Given the description of an element on the screen output the (x, y) to click on. 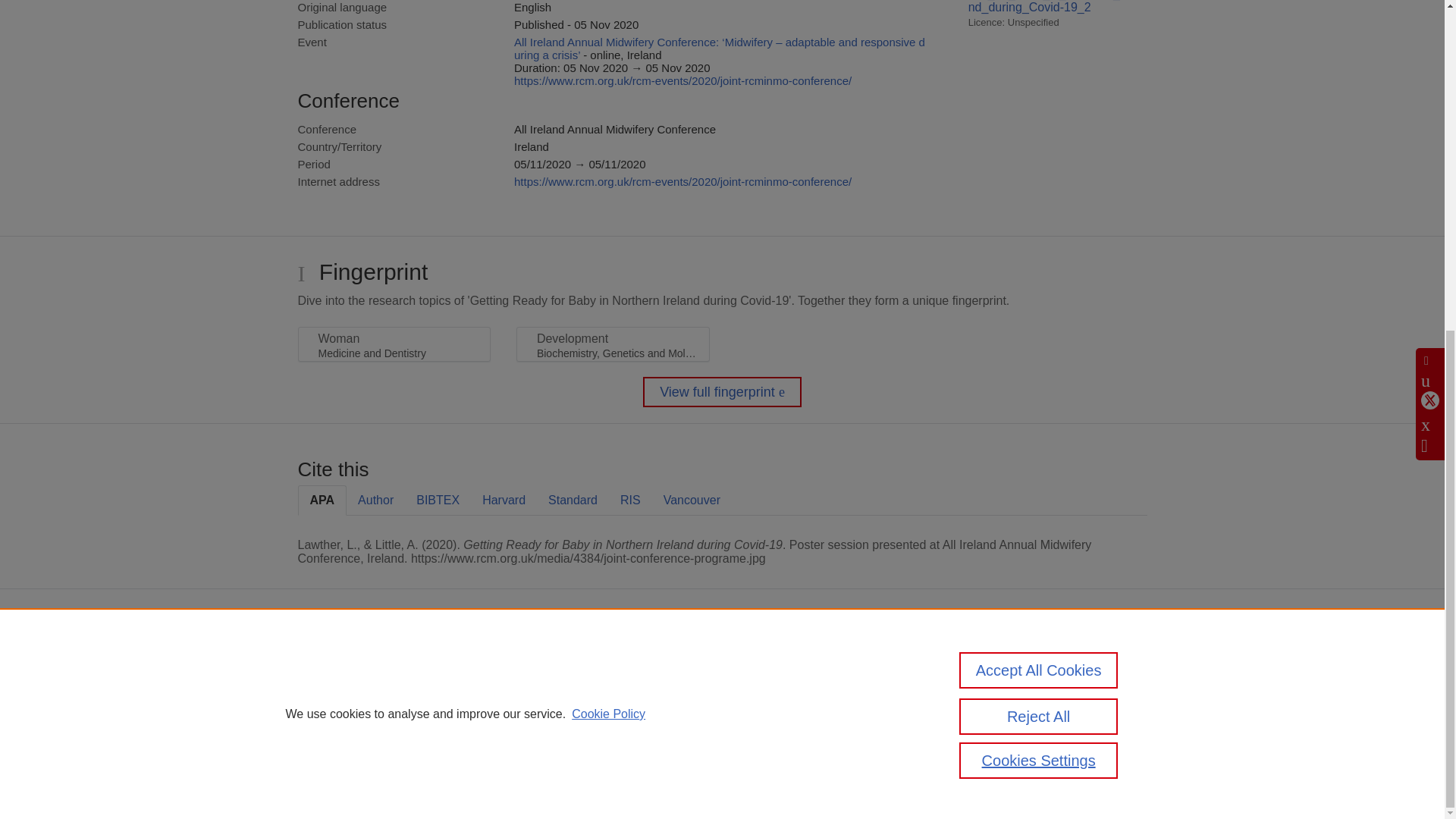
View full fingerprint (722, 391)
use of cookies (642, 733)
Scopus (493, 664)
Elsevier B.V. (603, 685)
Pure (461, 664)
